Given the description of an element on the screen output the (x, y) to click on. 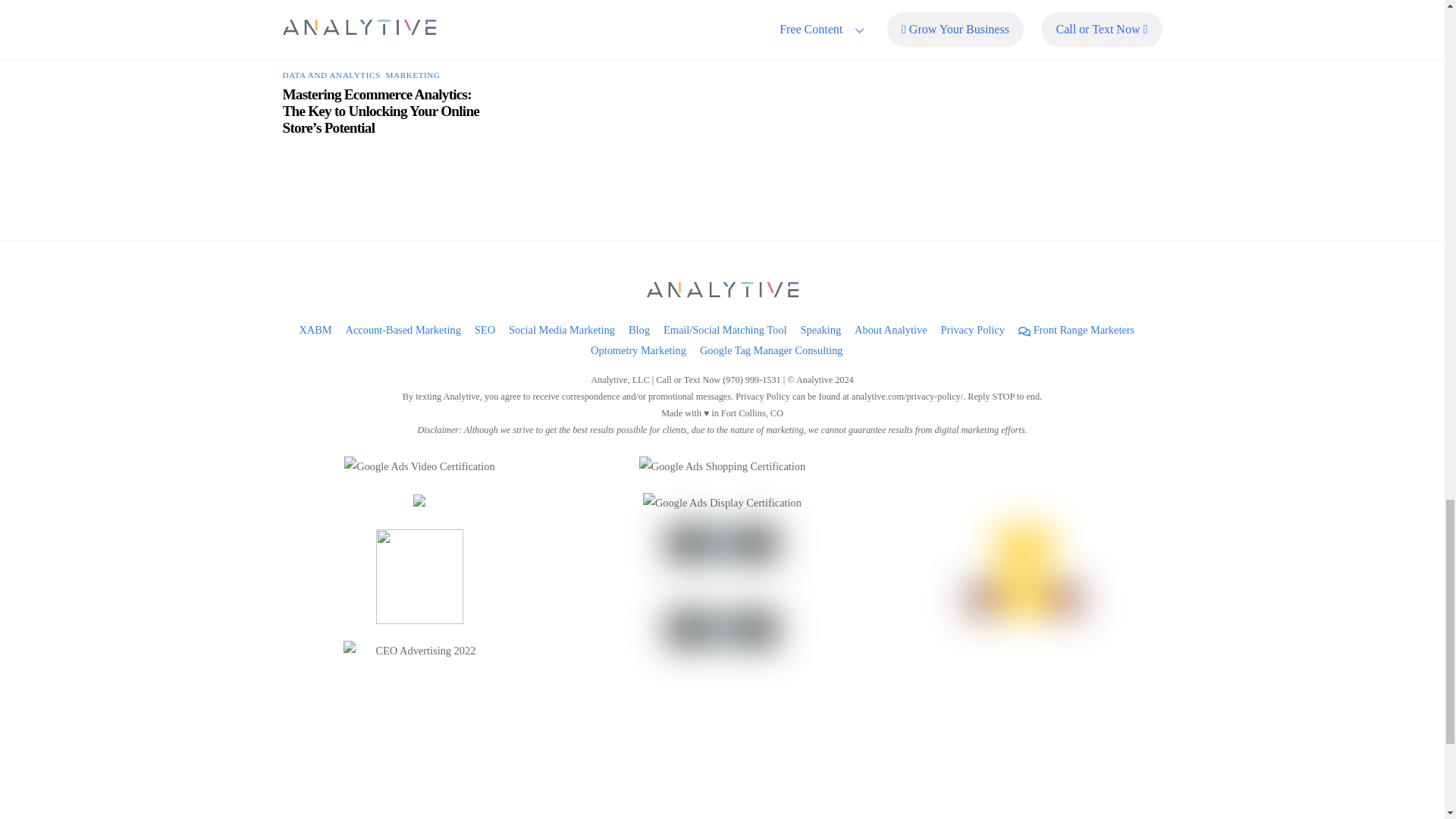
Front Range Marketers (1075, 329)
Social Media Marketing (561, 329)
Blog (638, 329)
web analytics ecommerce (381, 29)
DATA AND ANALYTICS (331, 74)
Speaking (820, 329)
Optometry Marketing (638, 349)
About Analytive (890, 329)
Privacy Policy (972, 329)
XABM (314, 329)
SEO (484, 329)
Account-Based Marketing (403, 329)
MARKETING (412, 74)
Analytive (721, 291)
